Given the description of an element on the screen output the (x, y) to click on. 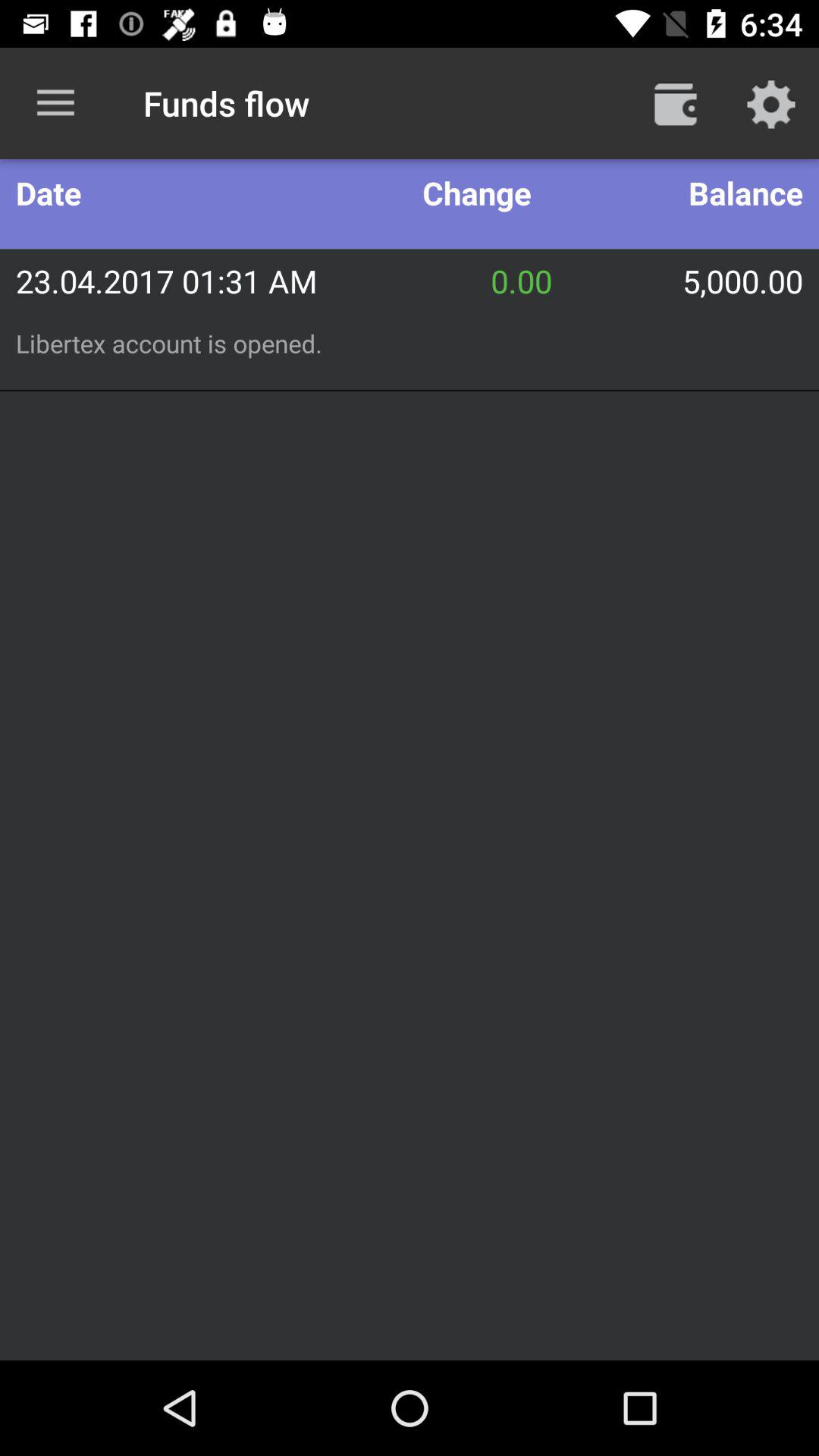
tap the item to the right of the funds flow icon (675, 103)
